Given the description of an element on the screen output the (x, y) to click on. 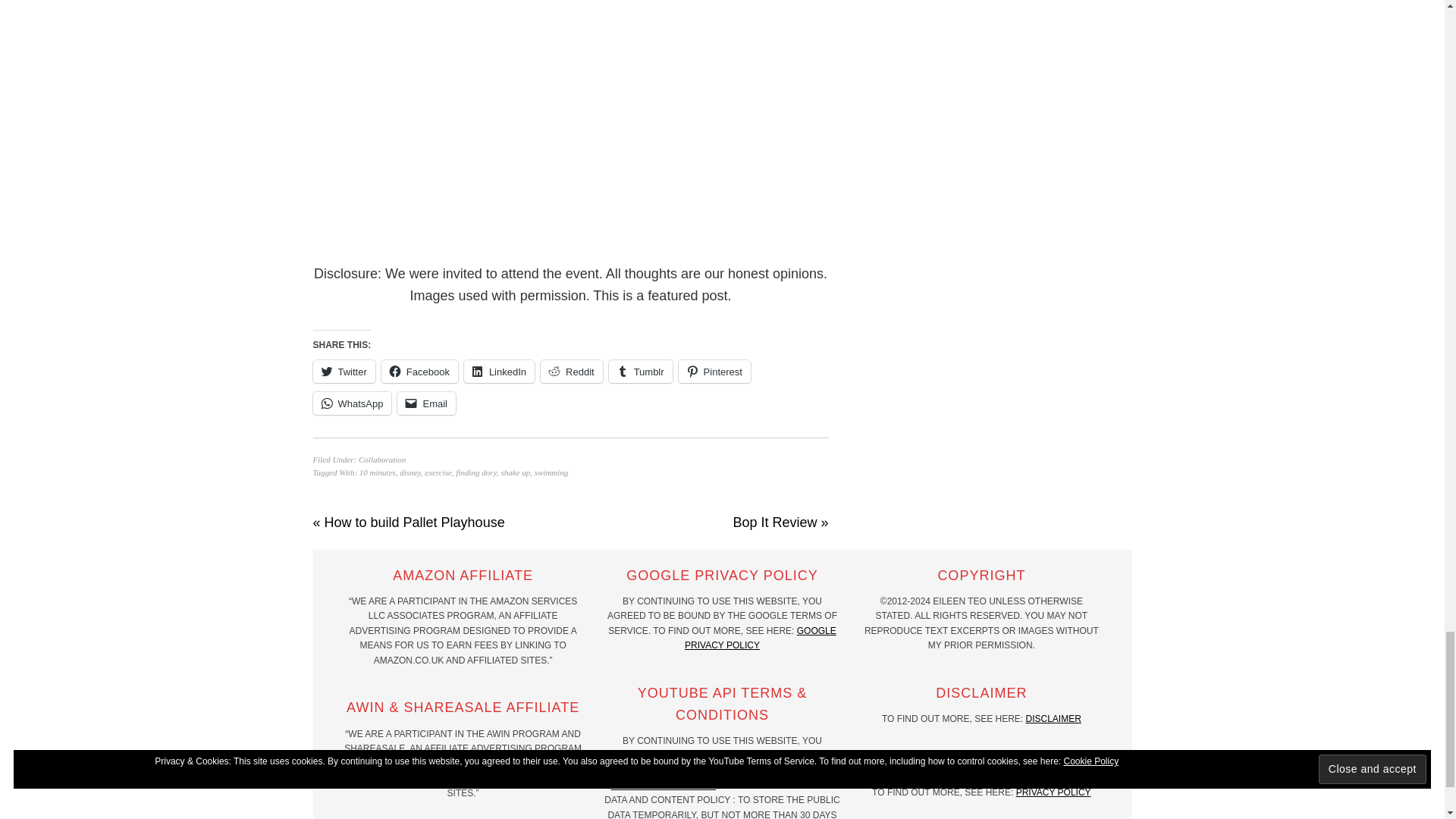
Click to share on Reddit (571, 371)
Click to share on Facebook (419, 371)
Click to share on Tumblr (640, 371)
Click to share on Pinterest (714, 371)
Click to email a link to a friend (426, 403)
Click to share on Twitter (343, 371)
Click to share on LinkedIn (499, 371)
Click to share on WhatsApp (352, 403)
